Given the description of an element on the screen output the (x, y) to click on. 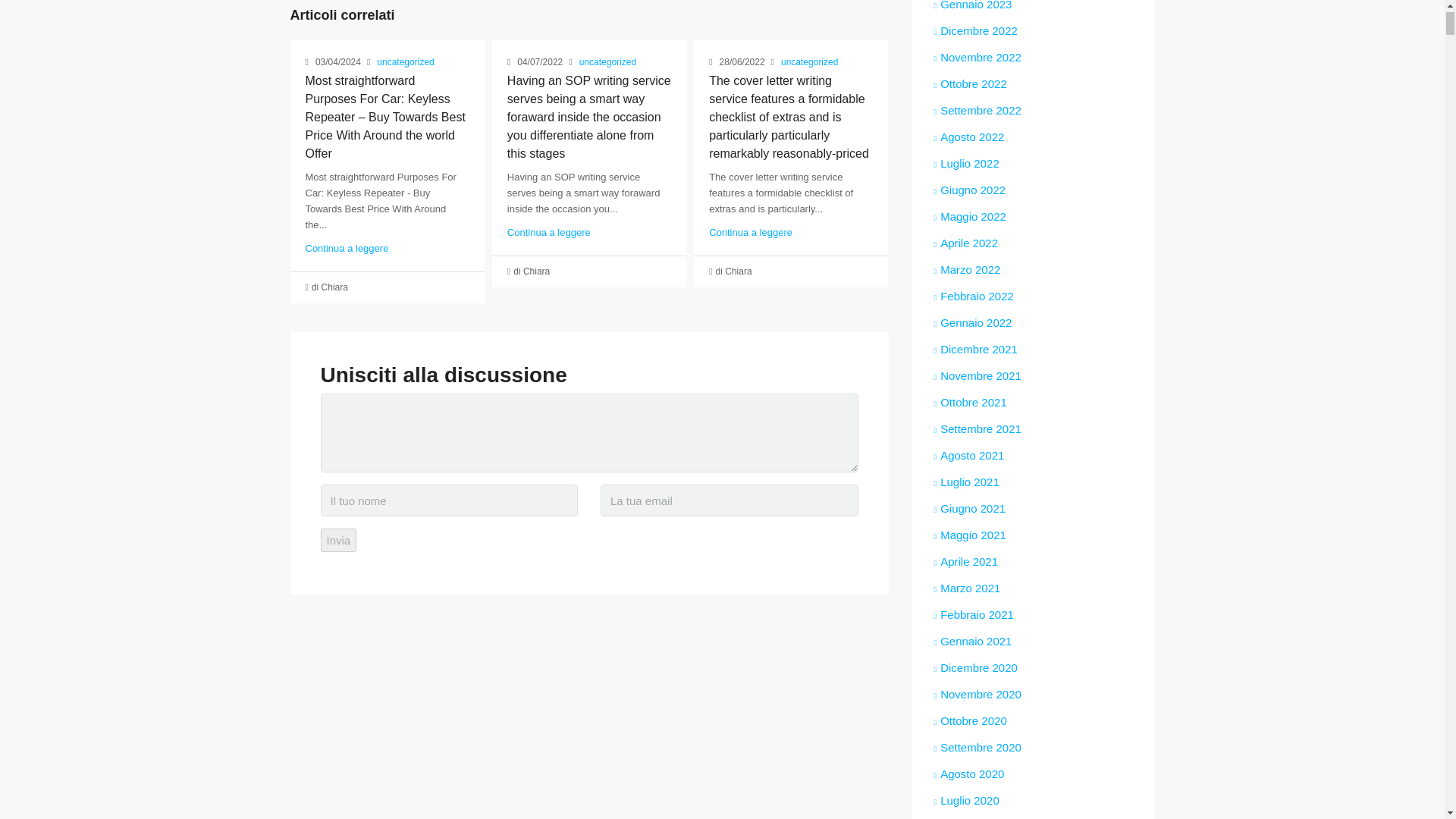
Invia (338, 540)
